Given the description of an element on the screen output the (x, y) to click on. 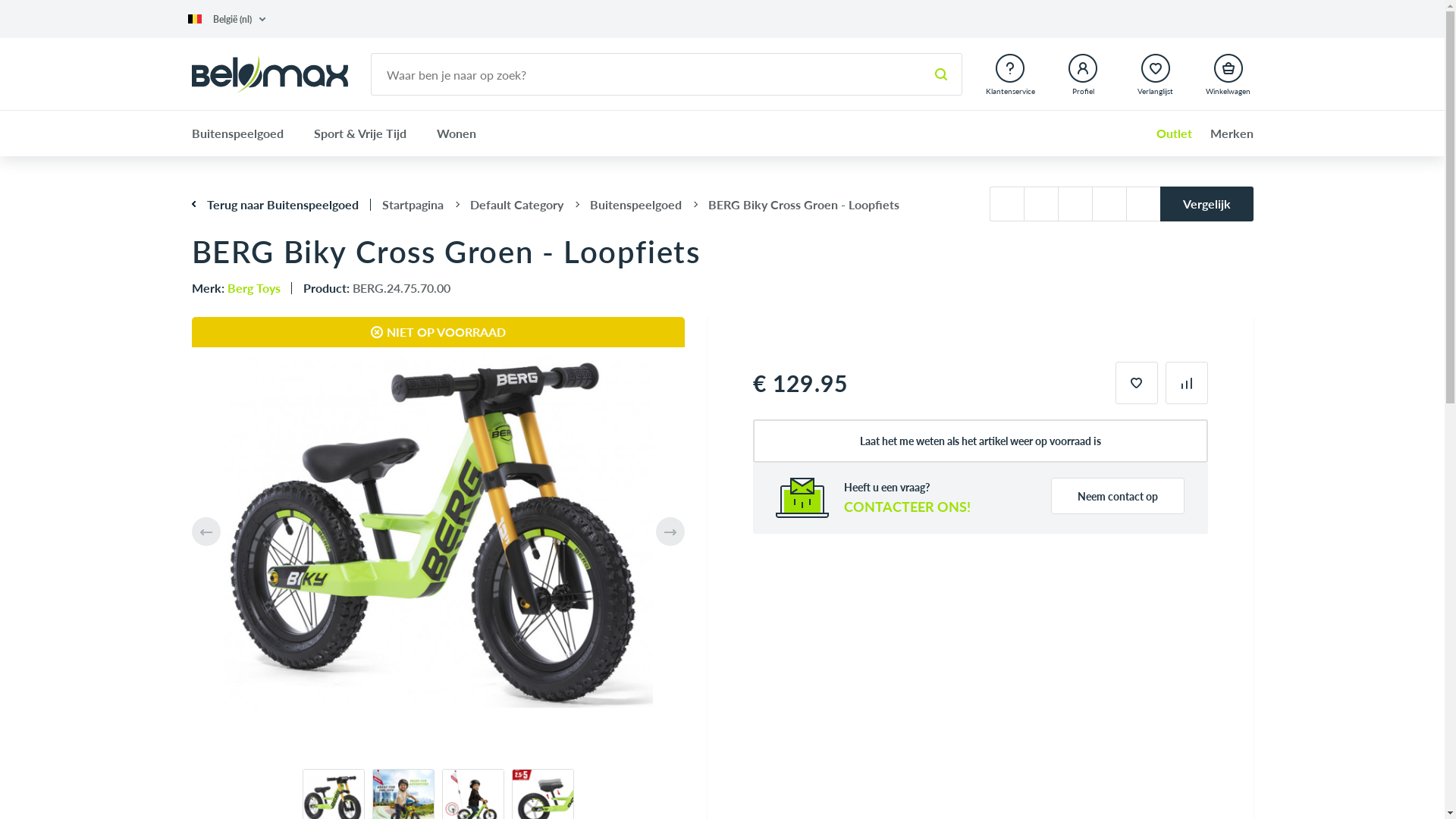
Homepage Element type: hover (269, 74)
Outlet Element type: text (1165, 133)
Merken Element type: text (1224, 133)
Startpagina Element type: text (412, 204)
Laat het me weten als het artikel weer op voorraad is Element type: text (980, 440)
Neem contact op Element type: text (1118, 495)
Buitenspeelgoed Element type: text (635, 204)
Default Category Element type: text (516, 204)
Sport & Vrije Tijd Element type: text (359, 133)
Wonen Element type: text (456, 133)
Merk: Berg Toys Element type: text (235, 287)
Vergelijk Element type: text (1206, 203)
Buitenspeelgoed Element type: text (244, 133)
Terug naar Buitenspeelgoed Element type: text (274, 204)
